Given the description of an element on the screen output the (x, y) to click on. 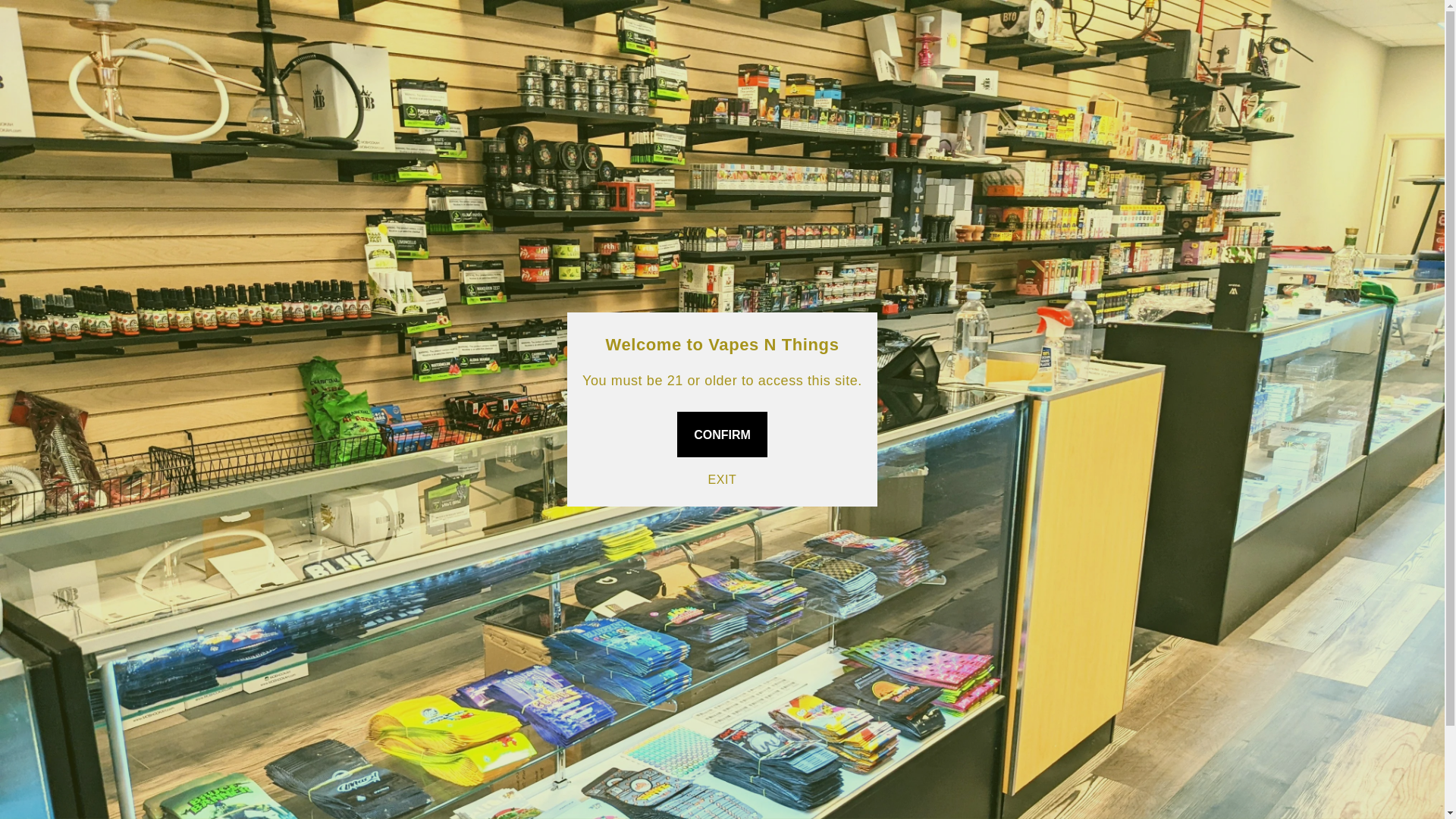
Home (484, 45)
Vapes N Things (372, 44)
Skip to content (45, 17)
